Given the description of an element on the screen output the (x, y) to click on. 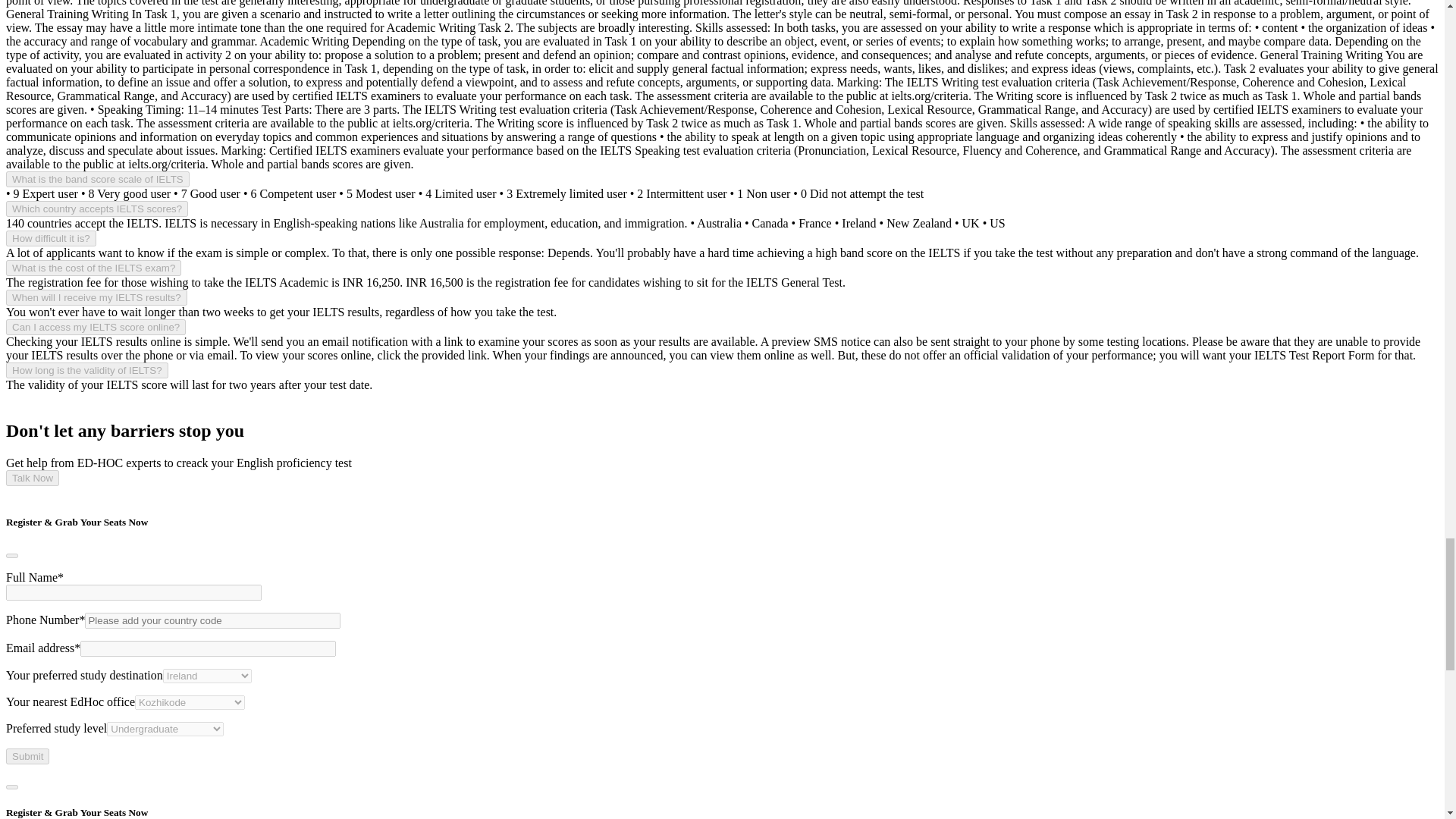
Submit (27, 756)
How difficult it is? (50, 238)
What is the band score scale of IELTS (97, 179)
Which country accepts IELTS scores? (96, 208)
